Given the description of an element on the screen output the (x, y) to click on. 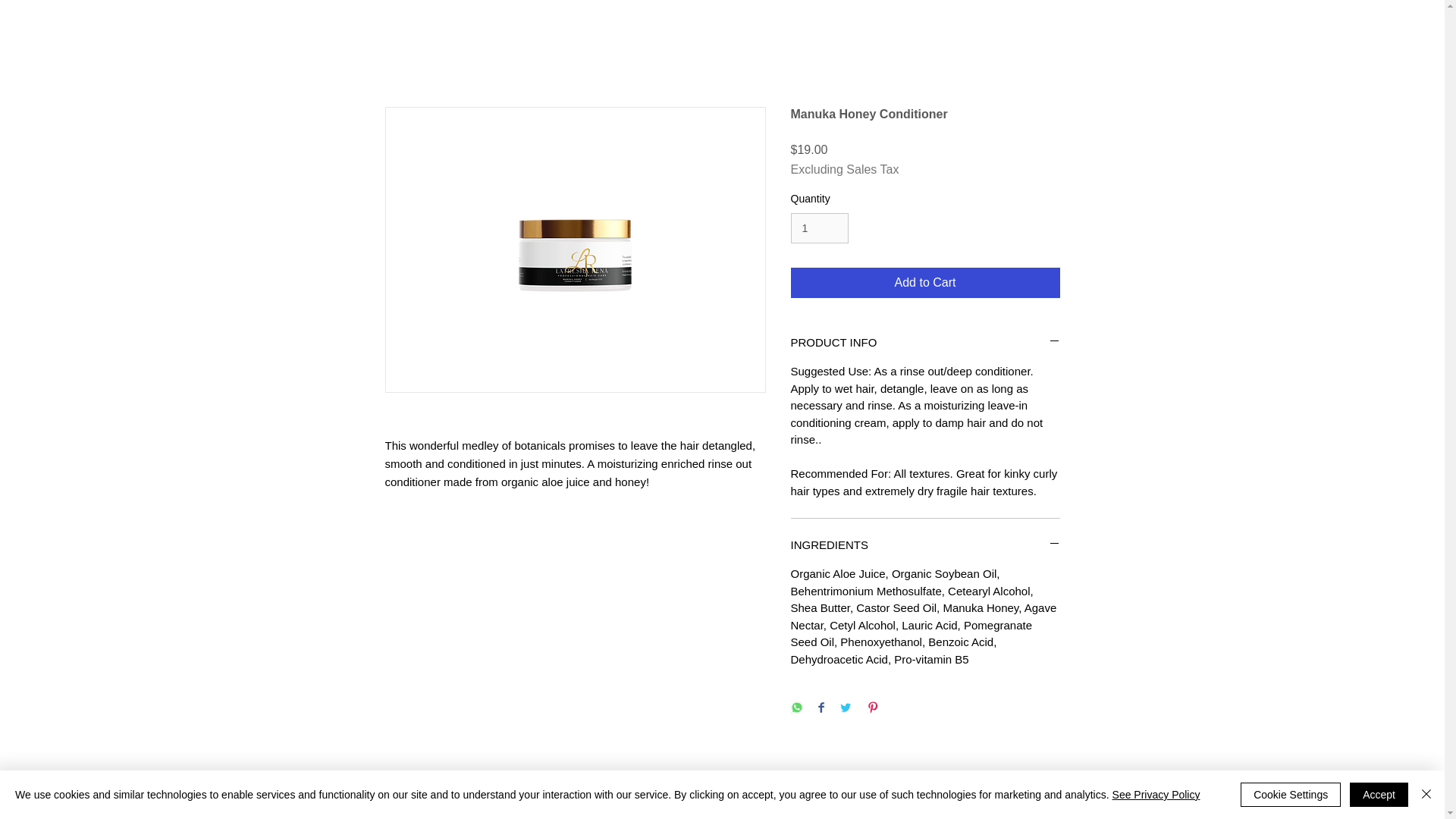
1 (818, 228)
Accept (1378, 794)
PRODUCT INFO (924, 342)
INGREDIENTS (924, 544)
Add to Cart (924, 282)
See Privacy Policy (1155, 794)
